Given the description of an element on the screen output the (x, y) to click on. 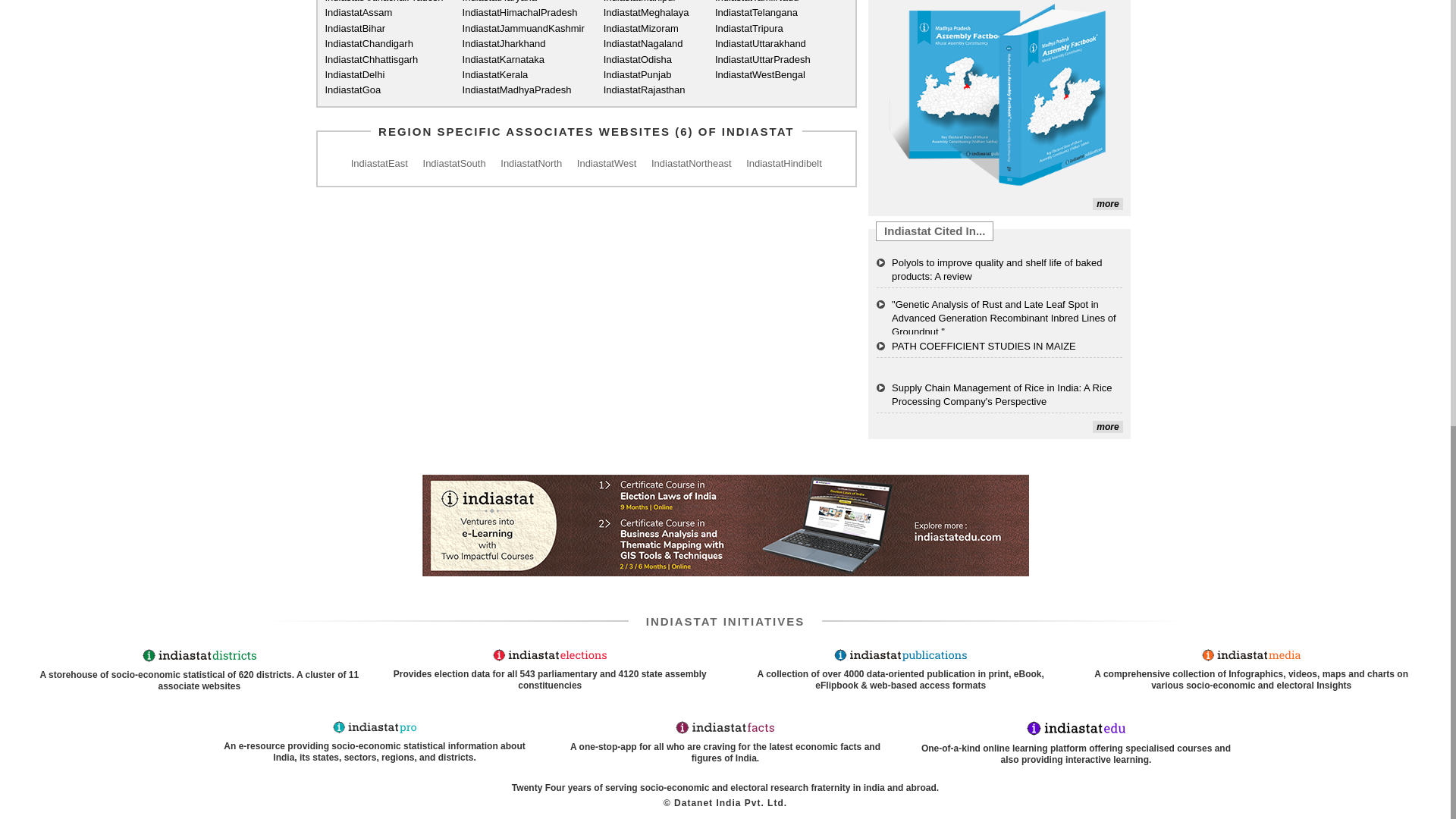
IndiastatArunachalPradesh (383, 2)
IndiastatBihar (383, 28)
IndiastatAssam (383, 12)
